Given the description of an element on the screen output the (x, y) to click on. 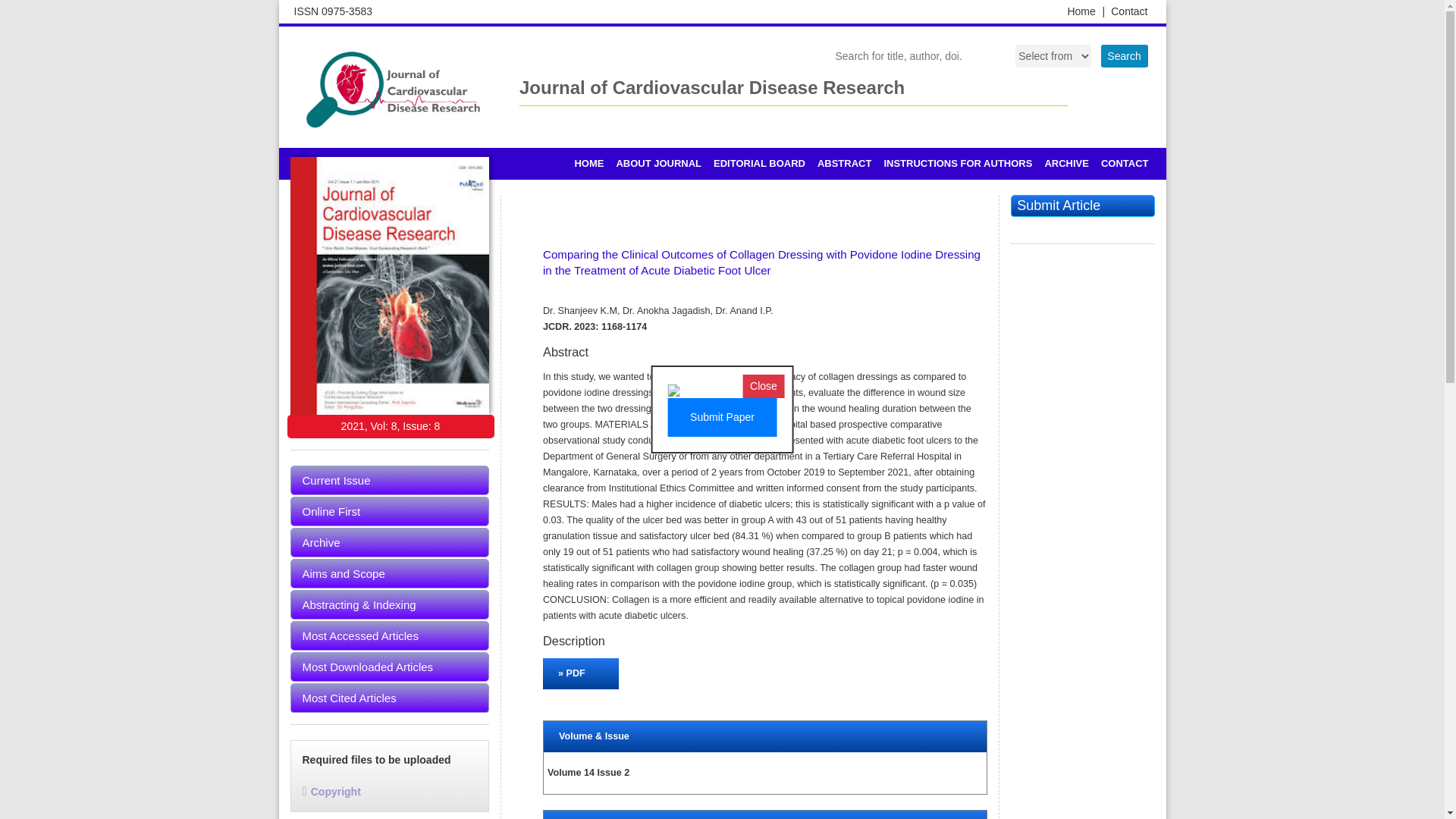
Search (1124, 56)
Archive (389, 542)
Current Issue (389, 480)
Copyright (330, 791)
Online First (389, 511)
ABOUT JOURNAL (658, 163)
HOME (588, 163)
Submit Article (1082, 205)
ABSTRACT (843, 163)
Most Accessed Articles (389, 635)
